Given the description of an element on the screen output the (x, y) to click on. 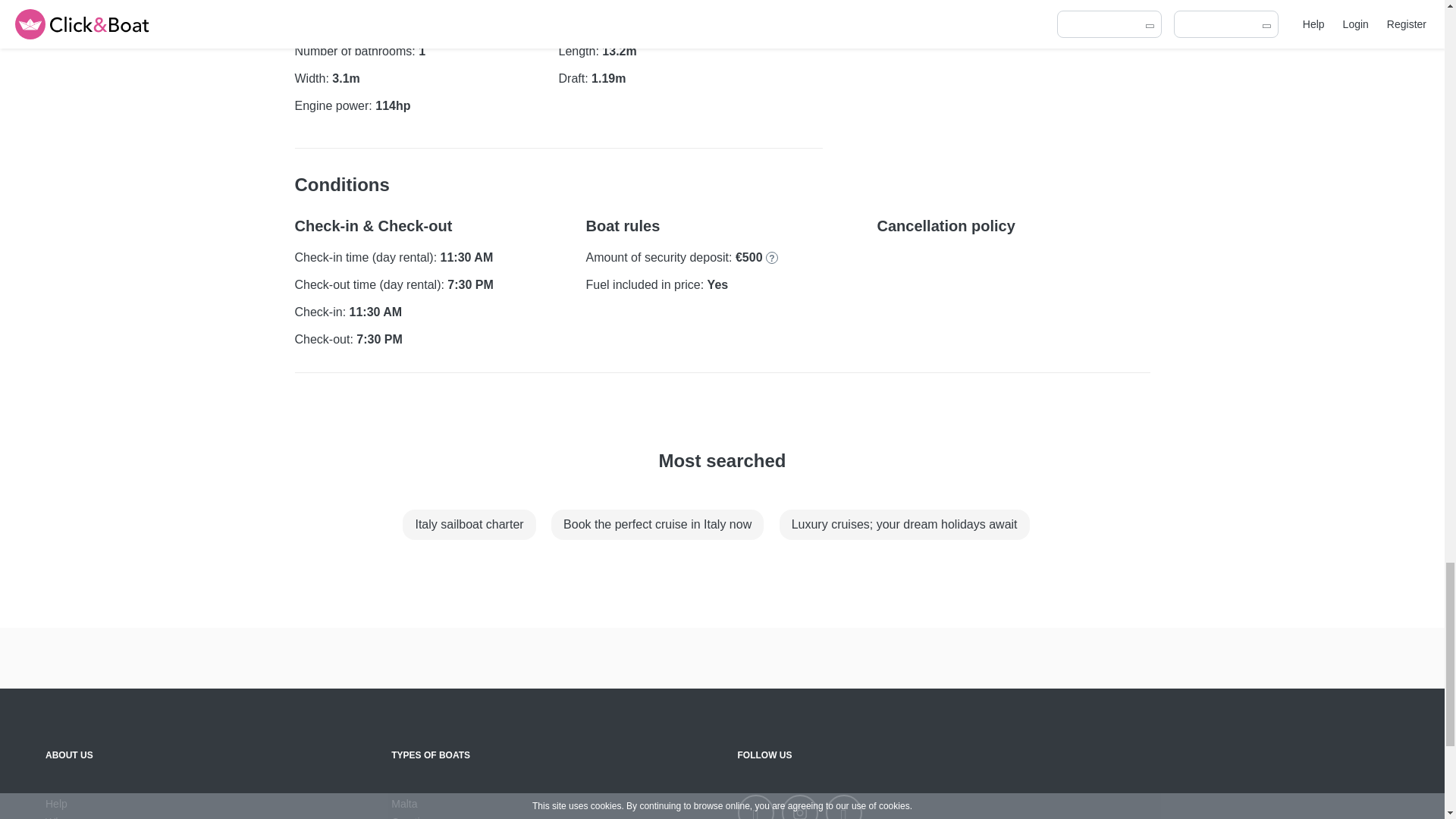
Italy sailboat charter (469, 524)
? (771, 257)
Luxury cruises; your dream holidays await (903, 524)
Book the perfect cruise in Italy now (656, 524)
